Given the description of an element on the screen output the (x, y) to click on. 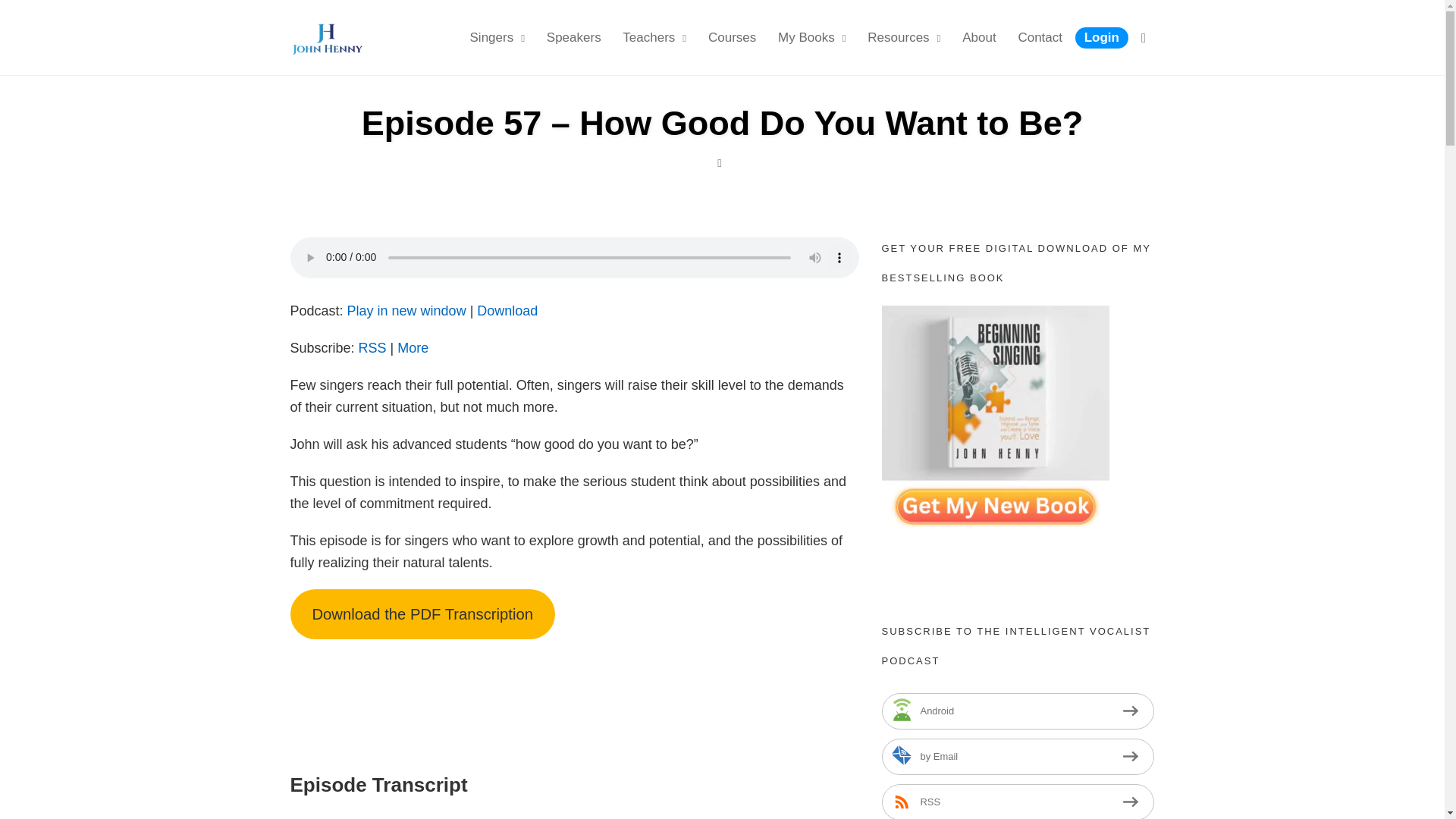
Resources (903, 37)
Play in new window (406, 310)
Subscribe via RSS (1017, 801)
Download (507, 310)
Download the PDF Transcription (421, 613)
Speakers (573, 37)
Subscribe on Android (1017, 710)
Login (1101, 37)
Teachers (654, 37)
Singers (497, 37)
Play in new window (406, 310)
About (978, 37)
Subscribe by Email (1017, 756)
Download (507, 310)
